Given the description of an element on the screen output the (x, y) to click on. 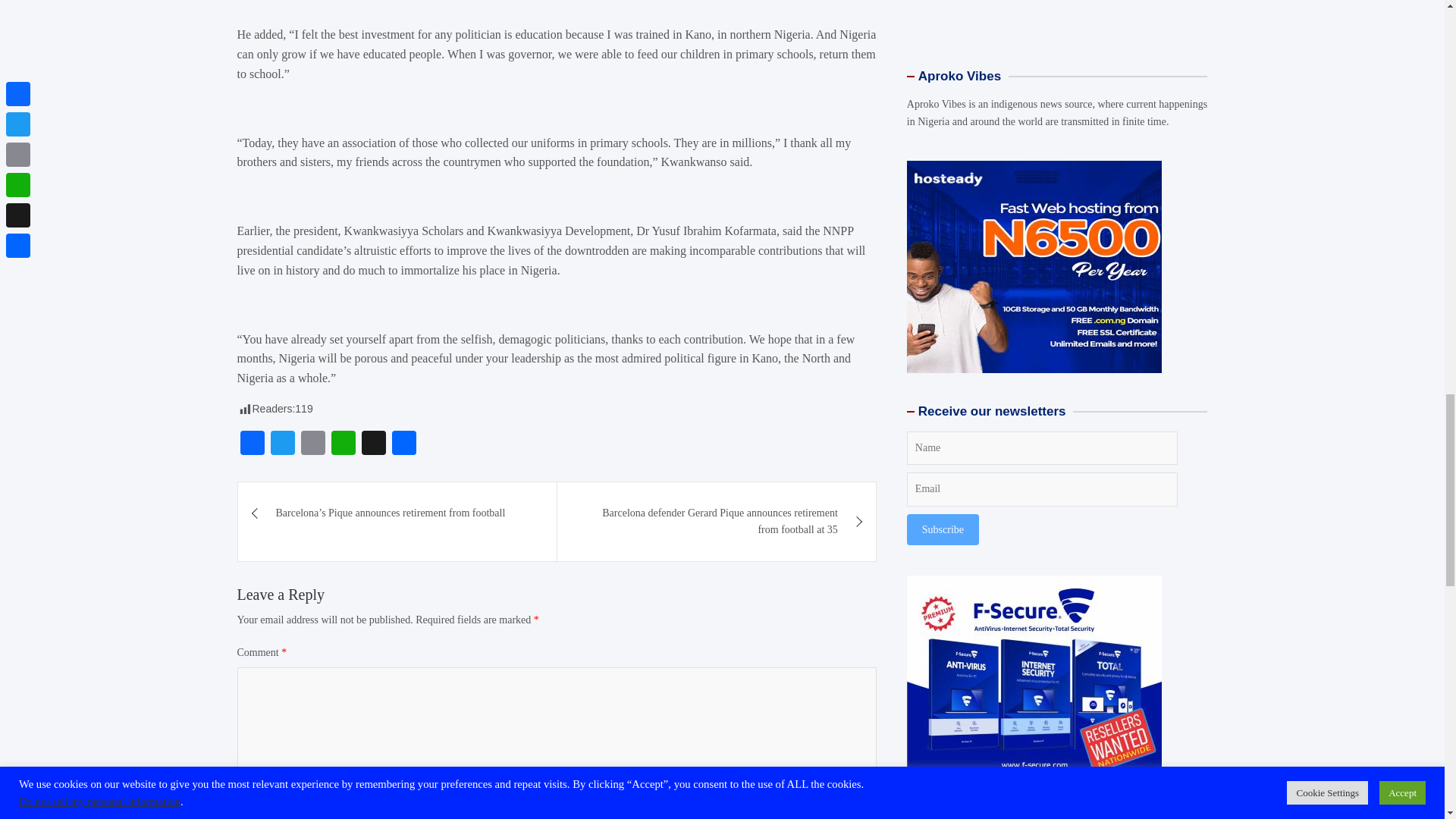
WhatsApp (342, 444)
Facebook (250, 444)
Email (312, 444)
Facebook (250, 444)
Digg (373, 444)
WhatsApp (342, 444)
Twitter (281, 444)
Digg (373, 444)
Share (403, 444)
